Given the description of an element on the screen output the (x, y) to click on. 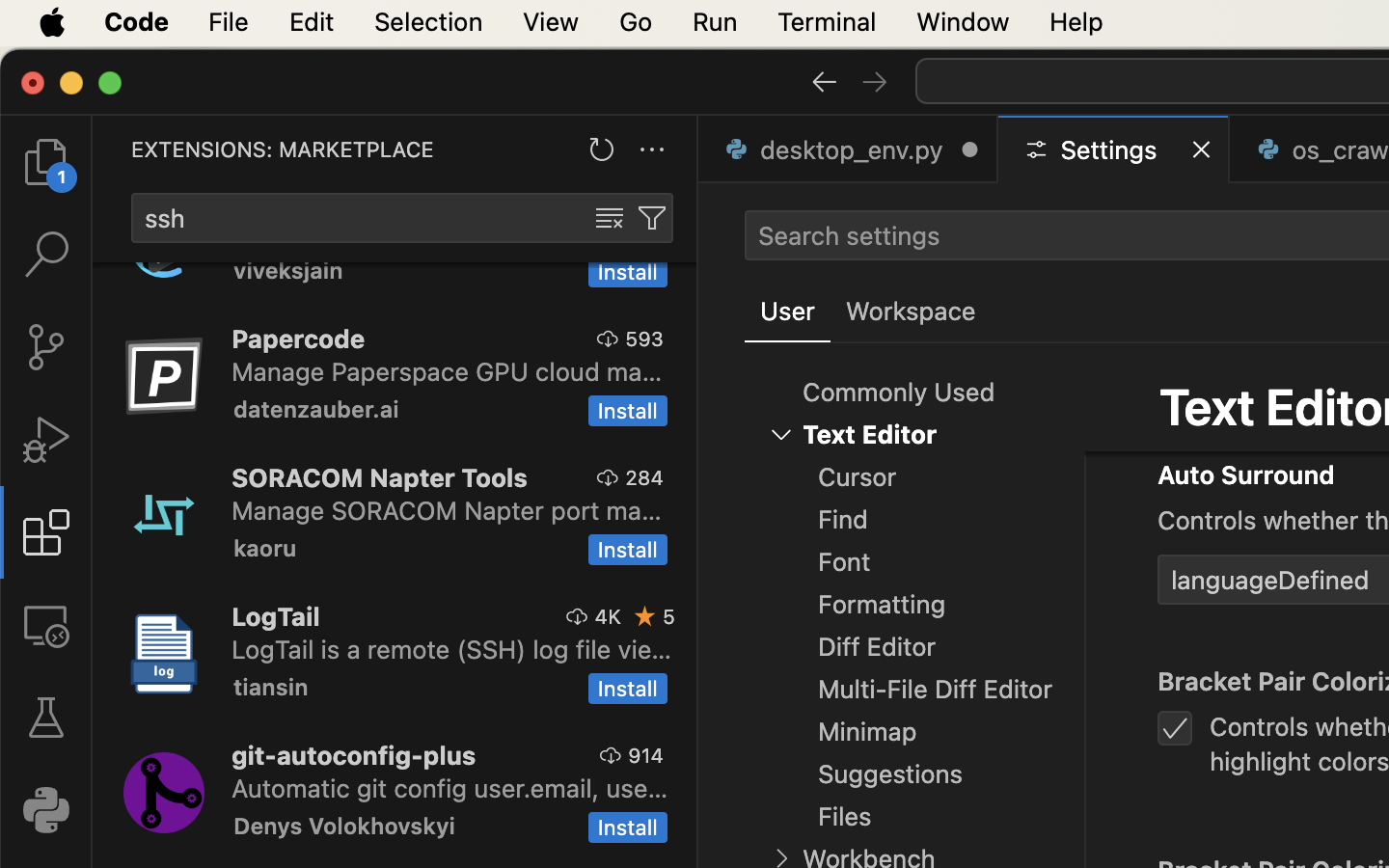
0  Element type: AXRadioButton (46, 161)
4K Element type: AXStaticText (607, 615)
Find Element type: AXStaticText (842, 519)
1 Element type: AXRadioButton (787, 311)
kaoru Element type: AXStaticText (265, 547)
